Given the description of an element on the screen output the (x, y) to click on. 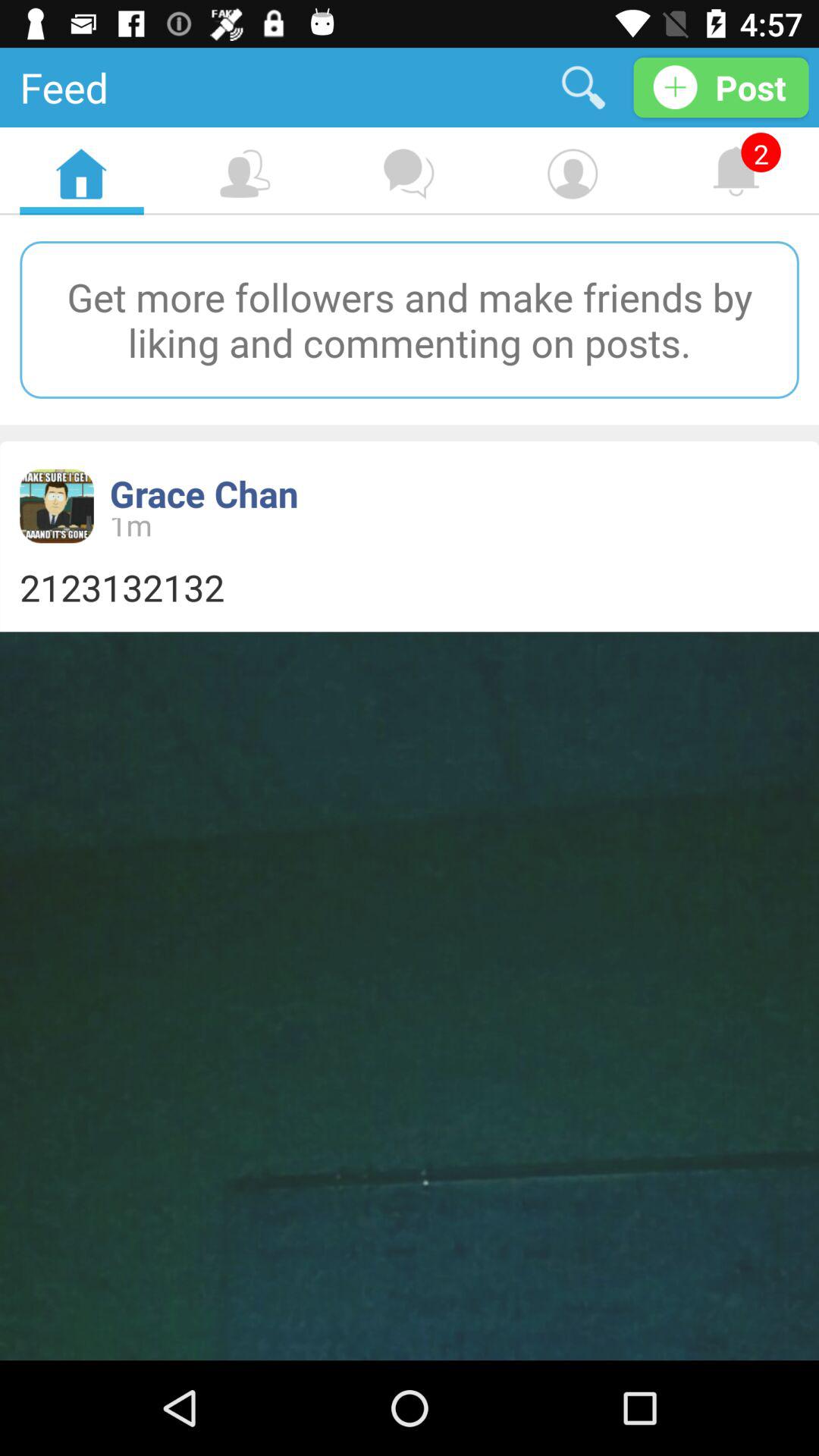
scroll to post item (720, 87)
